Given the description of an element on the screen output the (x, y) to click on. 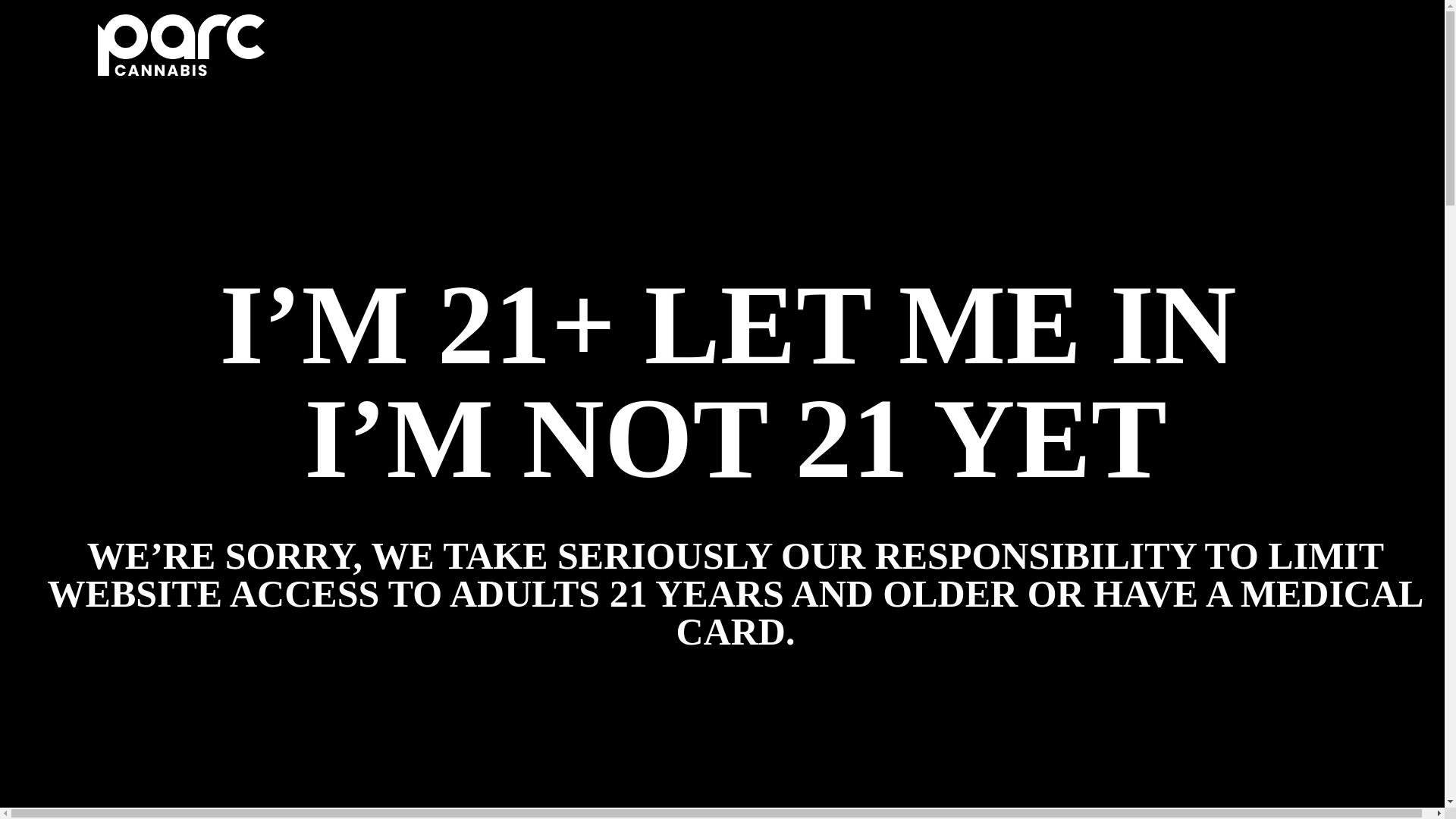
HOME (883, 53)
DEALS (1032, 53)
SHOP PARC (1241, 51)
